Given the description of an element on the screen output the (x, y) to click on. 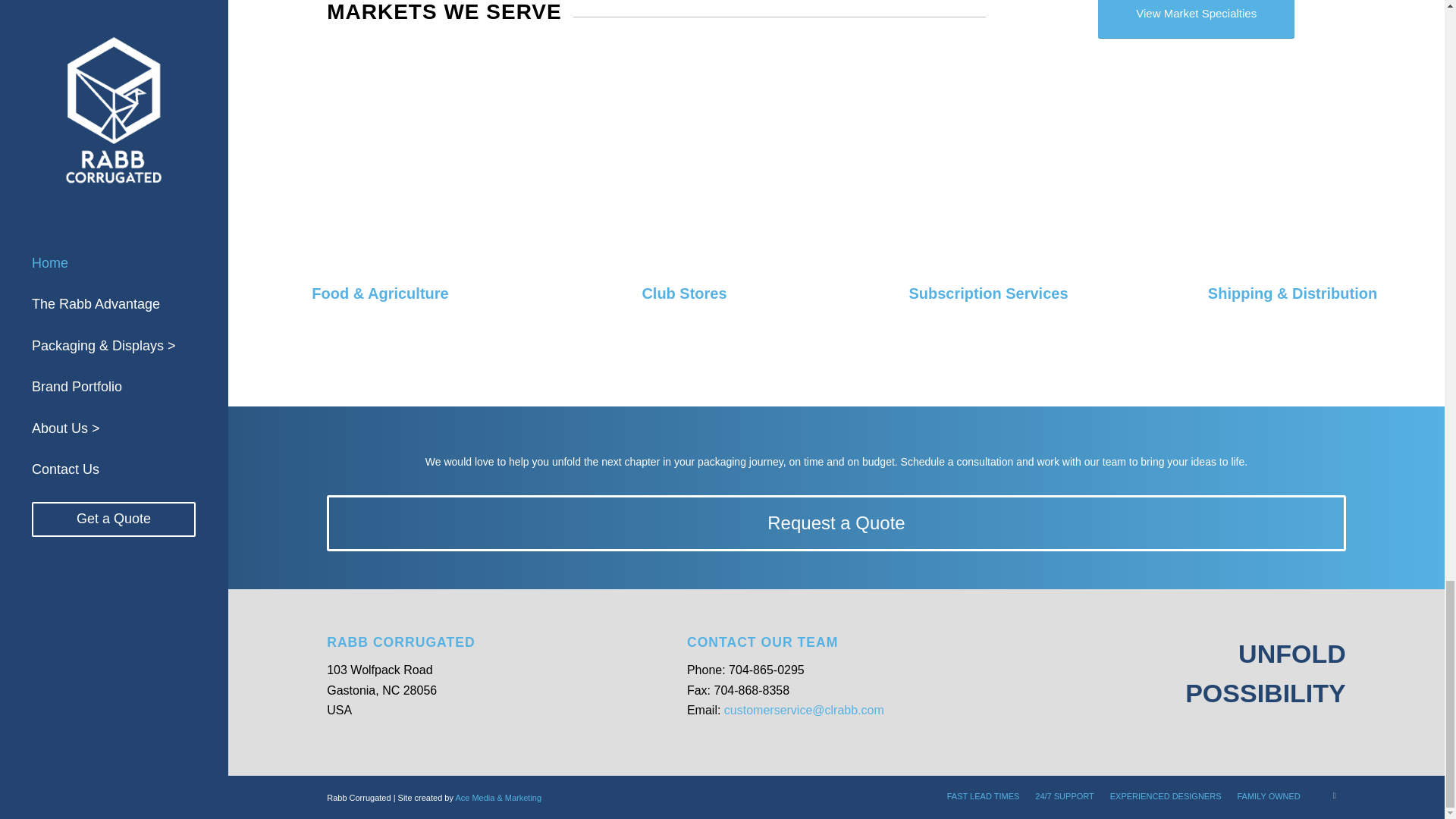
Request a Quote (835, 523)
FAST LEAD TIMES (983, 795)
EXPERIENCED DESIGNERS (1165, 795)
LinkedIn (1334, 794)
View Market Specialties (1195, 19)
